Given the description of an element on the screen output the (x, y) to click on. 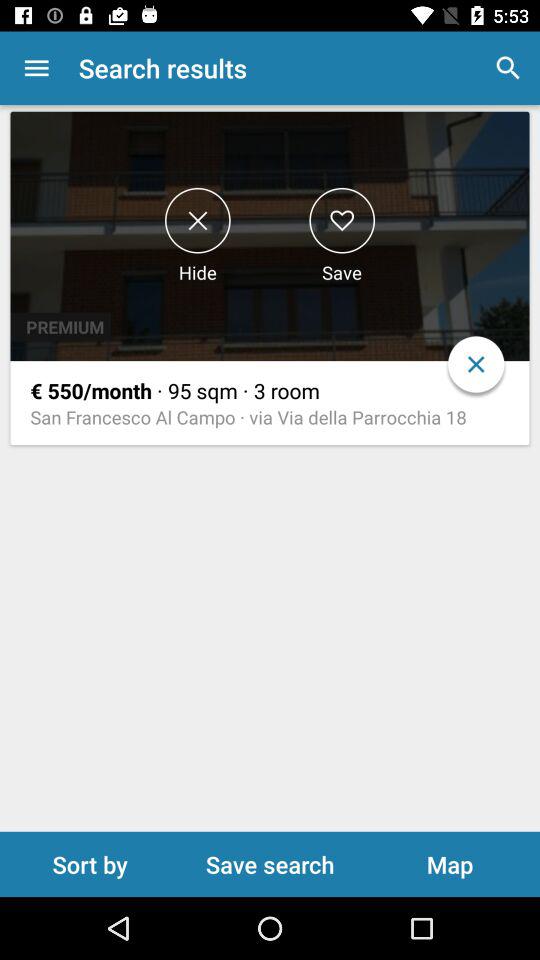
save search results (342, 220)
